Given the description of an element on the screen output the (x, y) to click on. 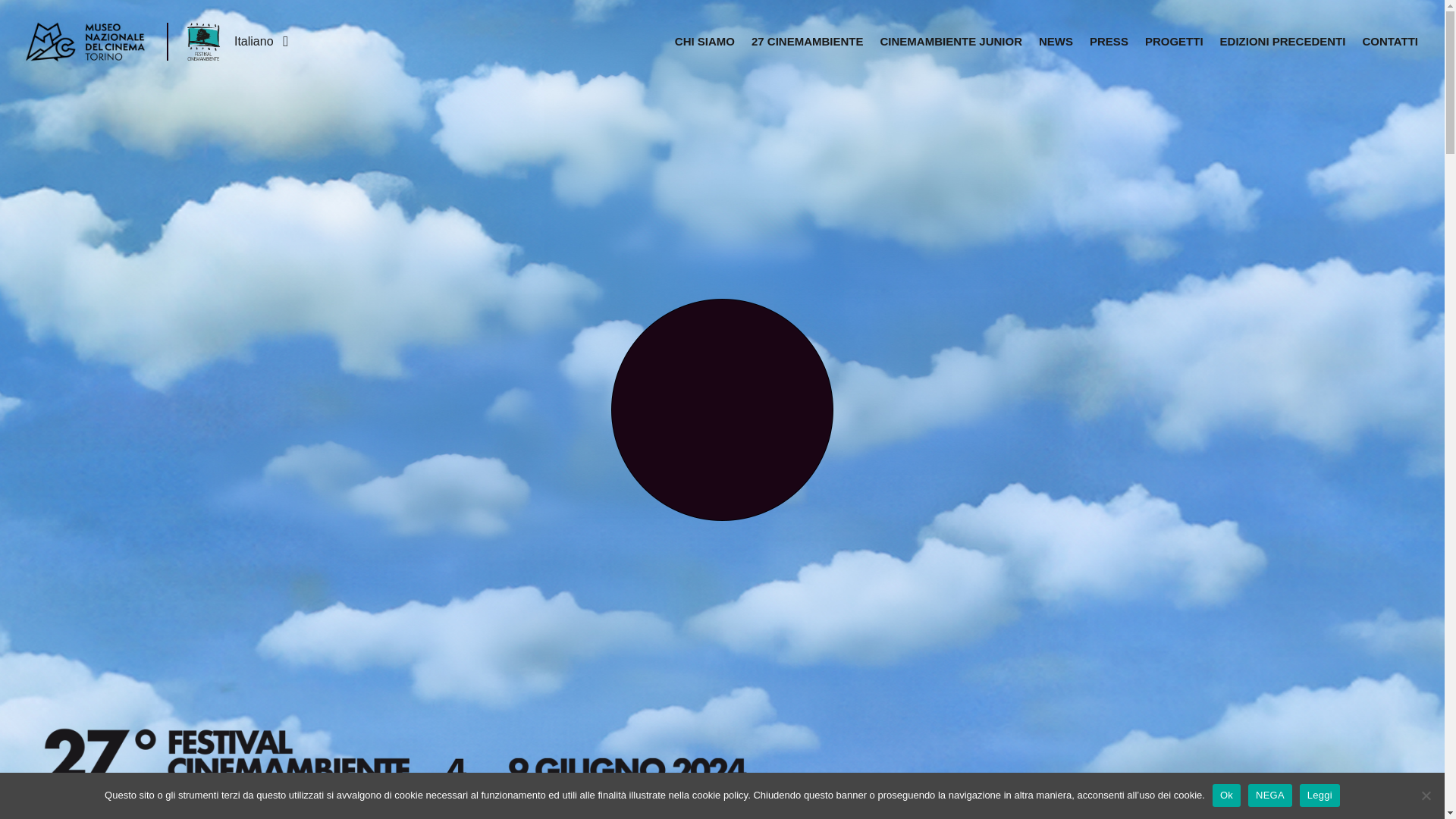
EDIZIONI PRECEDENTI (1282, 41)
Italiano (260, 41)
NEGA (1425, 795)
27 CINEMAMBIENTE (807, 41)
CHI SIAMO (704, 41)
CINEMAMBIENTE JUNIOR (951, 41)
PROGETTI (1174, 41)
